Given the description of an element on the screen output the (x, y) to click on. 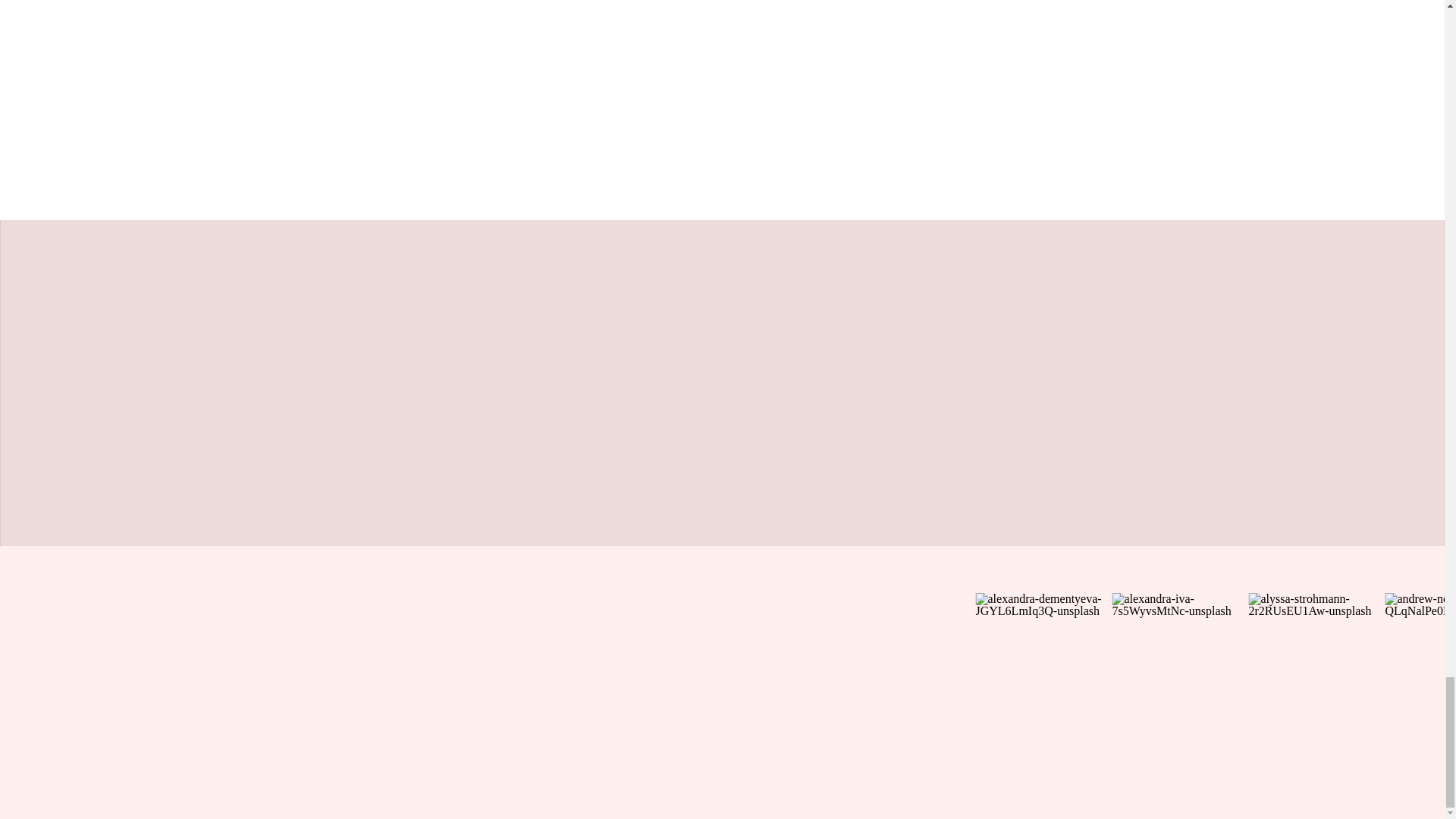
alexandra-iva-7s5WyvsMtNc-unsplash (1179, 660)
alexandra-dementyeva-JGYL6LmIq3Q-unsplash (1043, 660)
alyssa-strohmann-2r2RUsEU1Aw-unsplash (1315, 660)
